Given the description of an element on the screen output the (x, y) to click on. 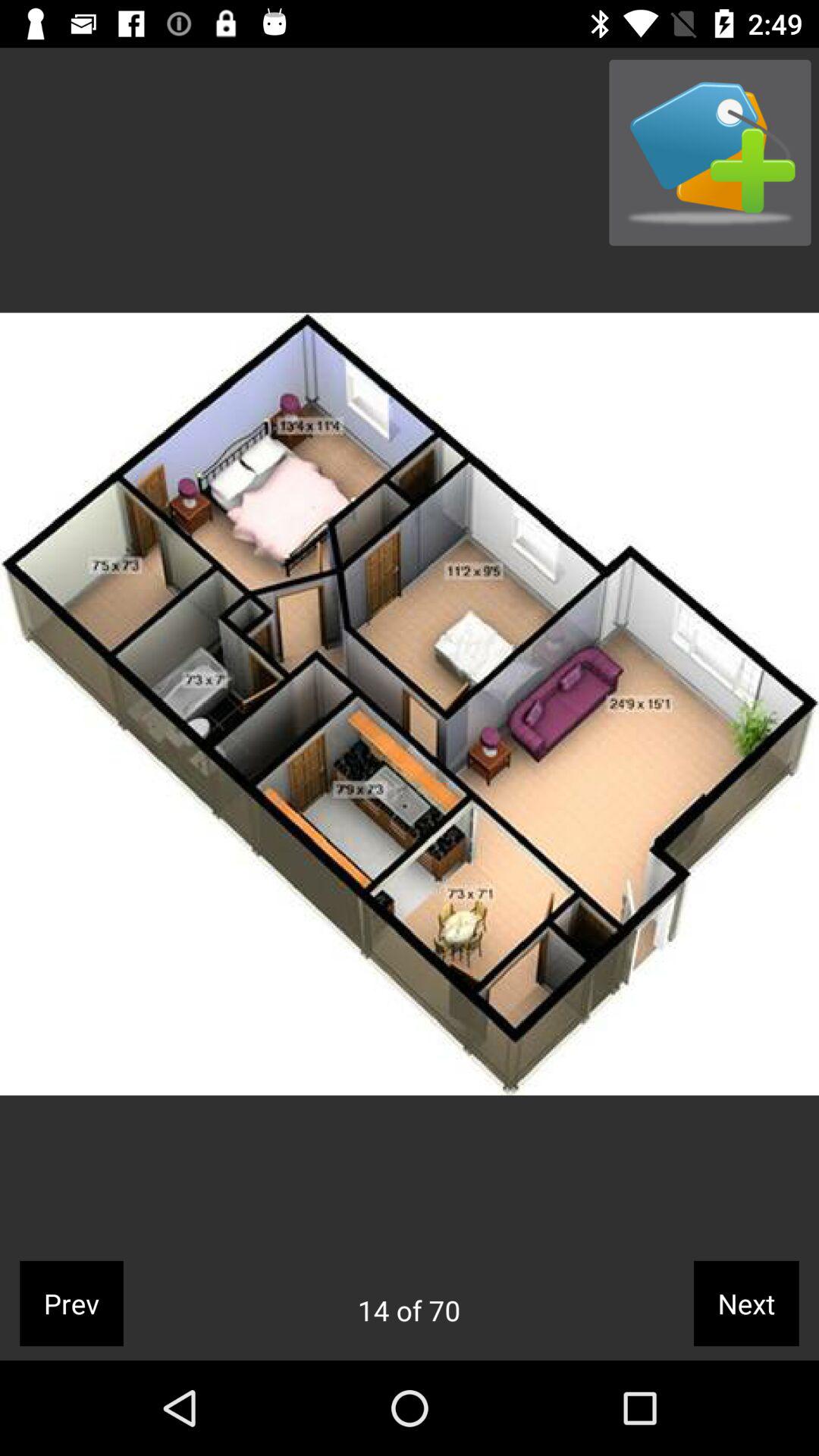
open app above the next icon (710, 152)
